Given the description of an element on the screen output the (x, y) to click on. 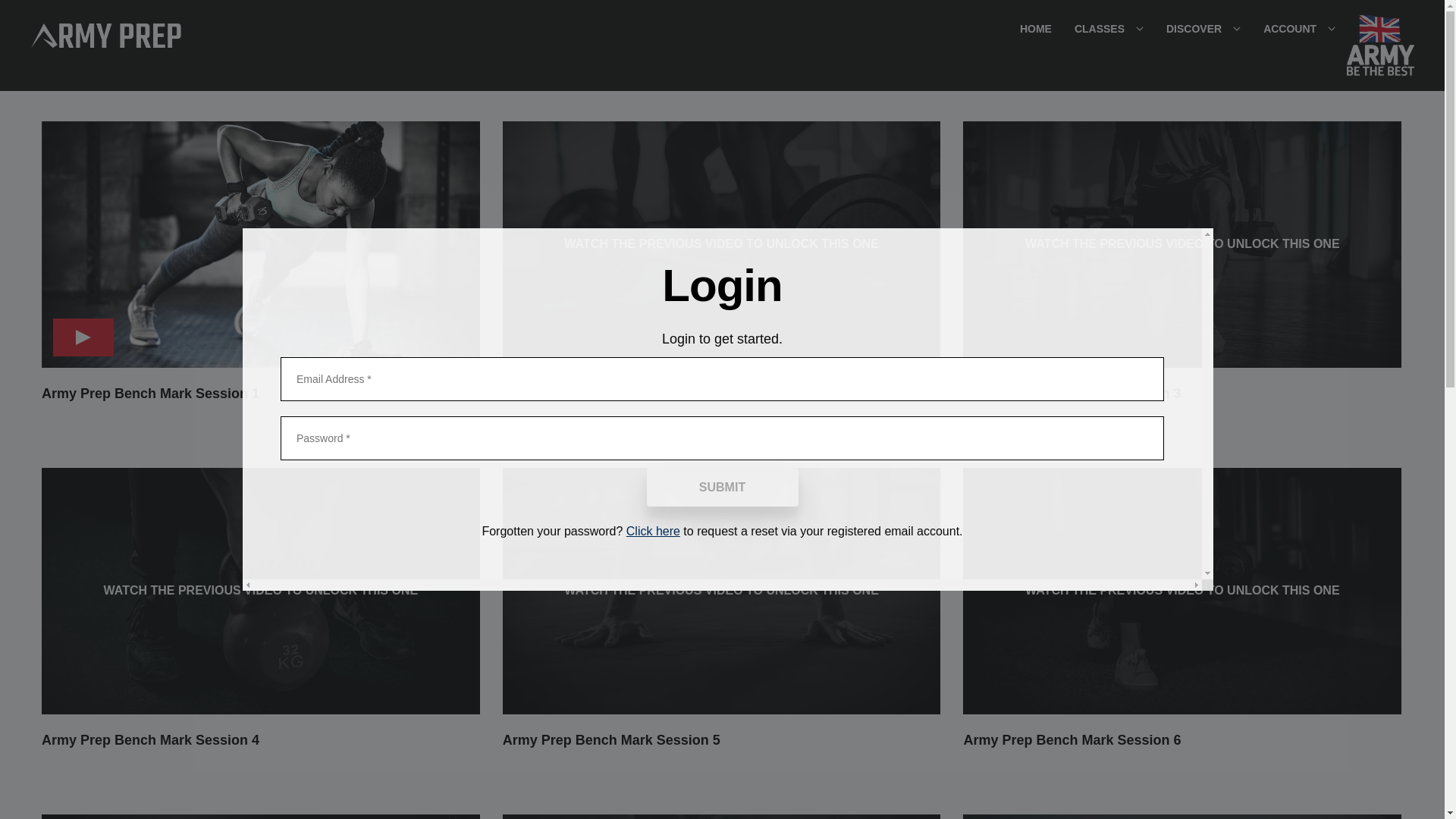
HOME (1035, 28)
Click here (652, 530)
DISCOVER (1203, 28)
ACCOUNT (1299, 28)
SUBMIT (721, 486)
CLASSES (1108, 28)
